Given the description of an element on the screen output the (x, y) to click on. 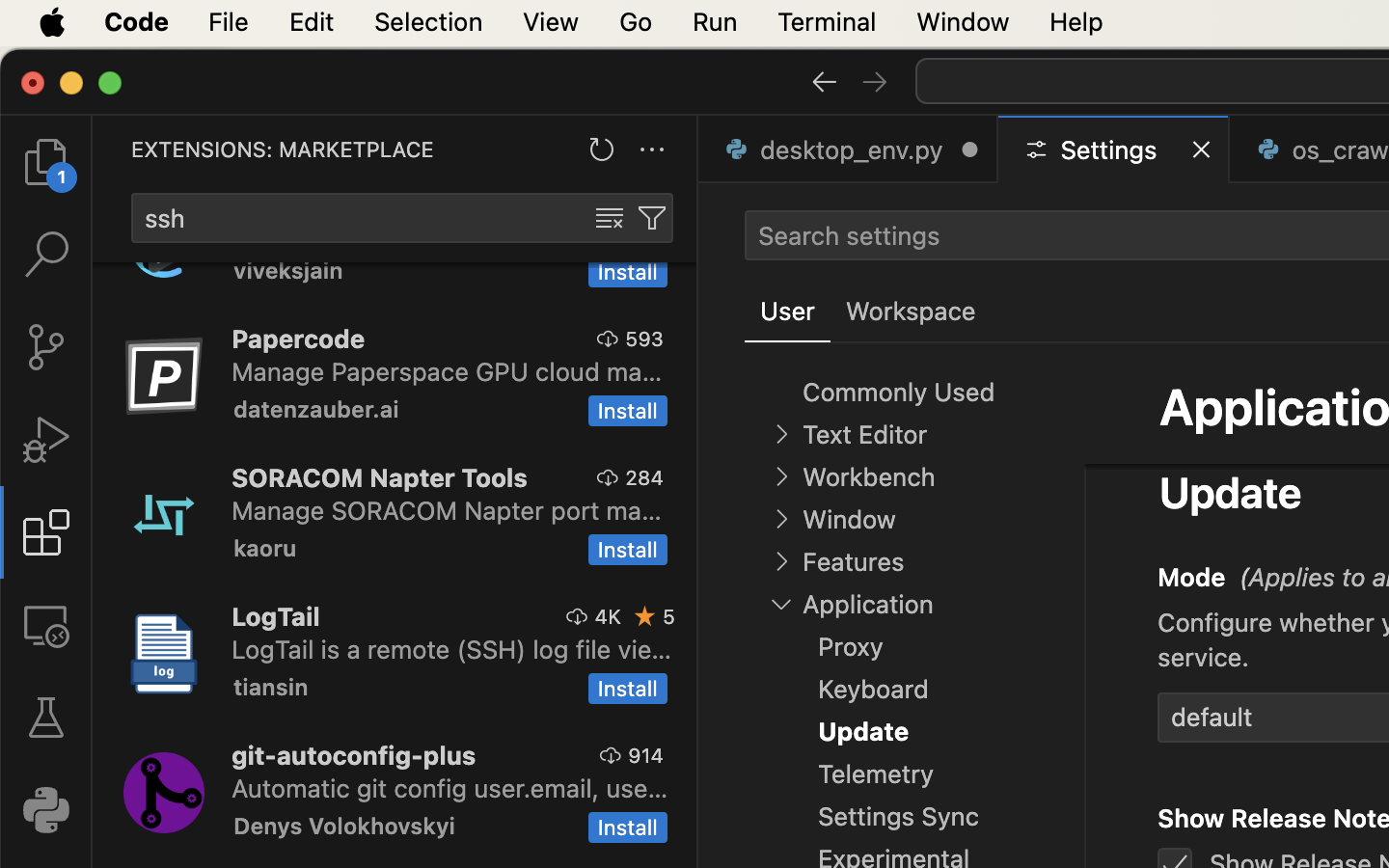
 Element type: AXStaticText (1108, 572)
0 Element type: AXRadioButton (910, 311)
 Element type: AXStaticText (651, 217)
datenzauber.ai Element type: AXStaticText (316, 408)
Settings Sync Element type: AXStaticText (898, 816)
